Given the description of an element on the screen output the (x, y) to click on. 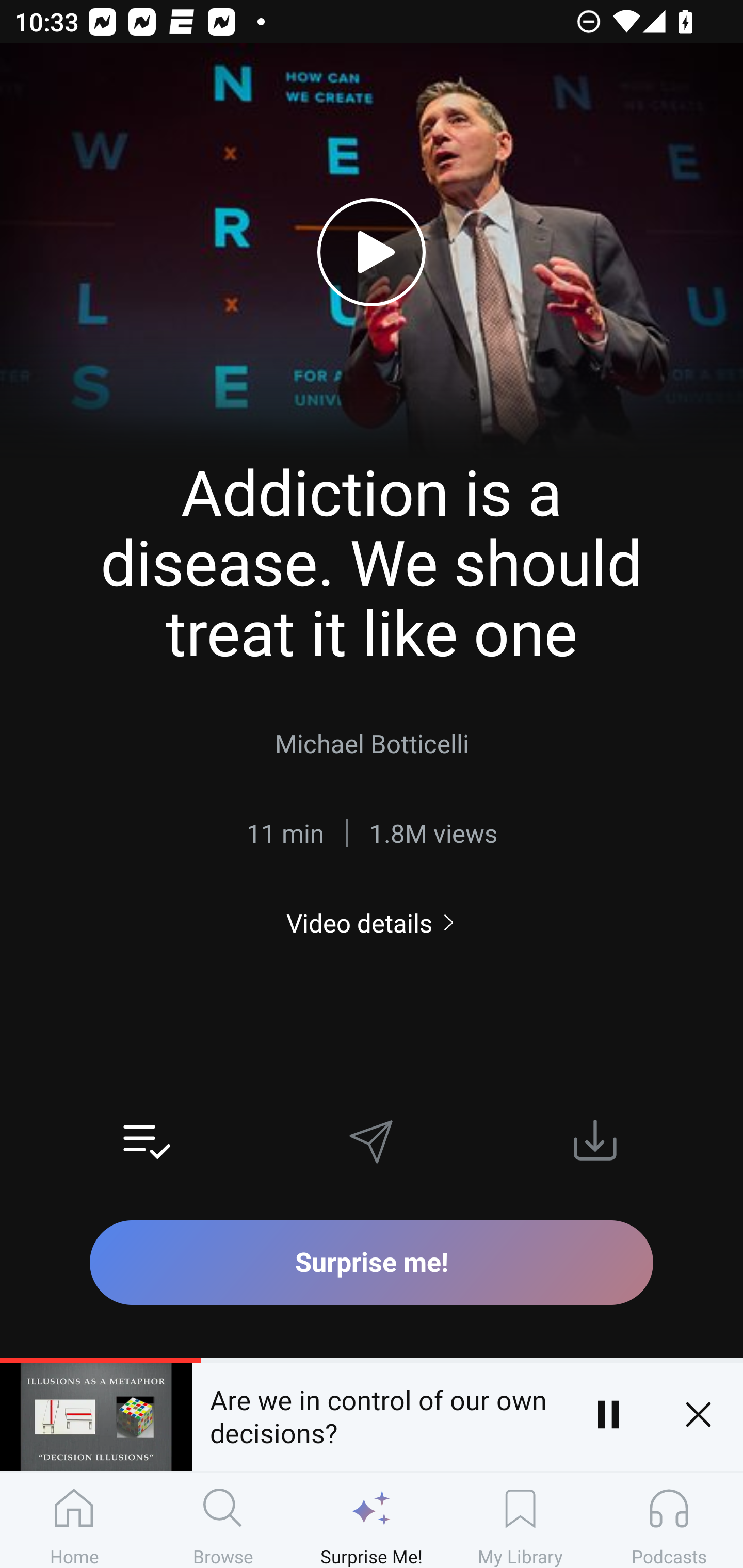
Video details (371, 922)
Surprise me! (371, 1261)
Are we in control of our own decisions? (377, 1413)
Home (74, 1520)
Browse (222, 1520)
Surprise Me! (371, 1520)
My Library (519, 1520)
Podcasts (668, 1520)
